Given the description of an element on the screen output the (x, y) to click on. 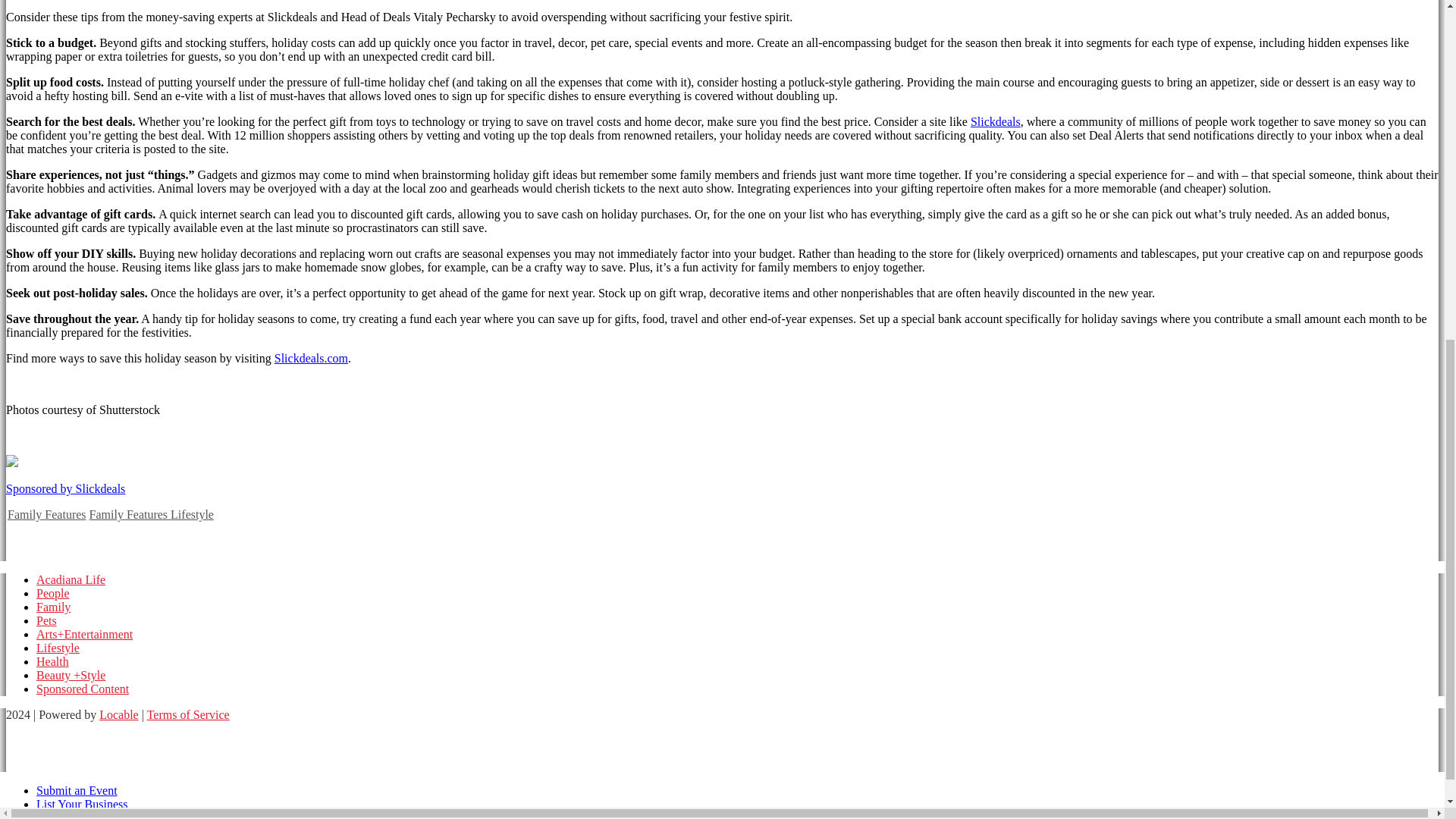
Family Features (46, 513)
Slickdeals.com (311, 358)
Family Features Lifestyle (151, 513)
Sponsored by Slickdeals (65, 488)
People (52, 593)
Slickdeals (995, 121)
Acadiana Life (70, 579)
